Given the description of an element on the screen output the (x, y) to click on. 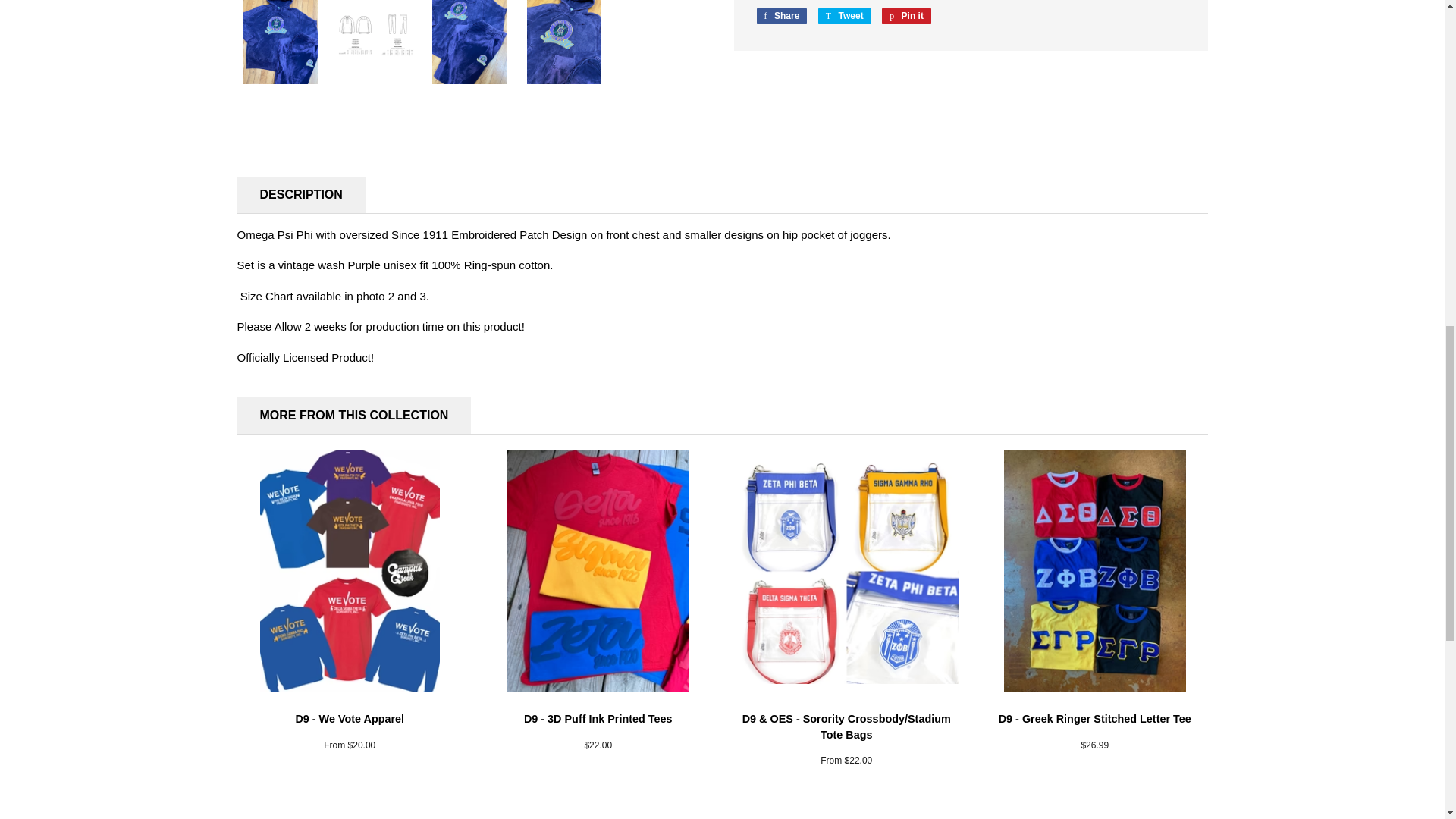
Pin on Pinterest (906, 15)
Share on Facebook (782, 15)
Tweet on Twitter (844, 15)
